Given the description of an element on the screen output the (x, y) to click on. 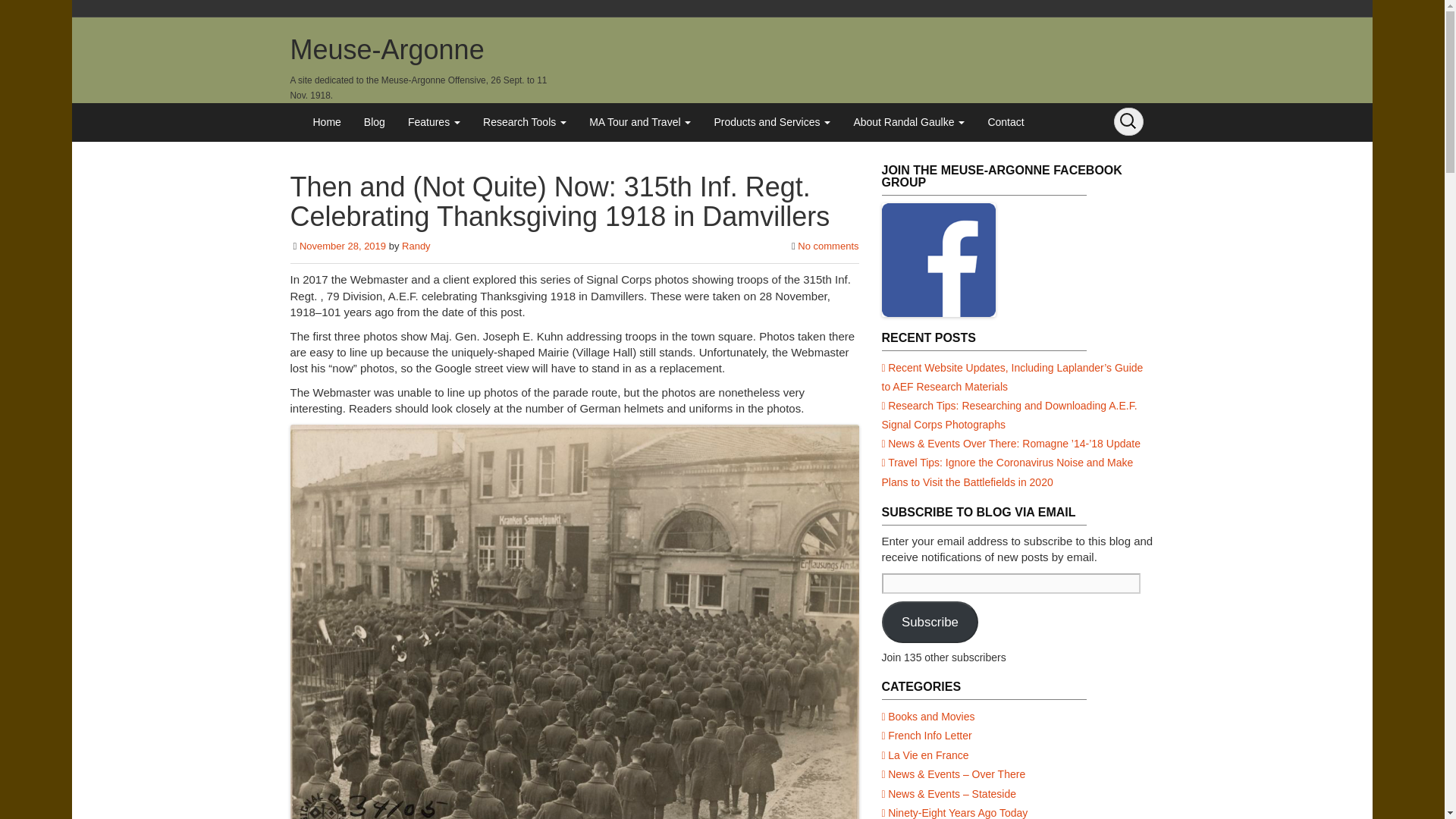
Home (326, 121)
View all posts by Randy (415, 245)
Blog (374, 121)
Research Tools (524, 121)
Meuse-Argonne (386, 49)
Meuse-Argonne (386, 49)
3:30 pm (342, 245)
MA Tour and Travel (639, 121)
Features (433, 121)
